Given the description of an element on the screen output the (x, y) to click on. 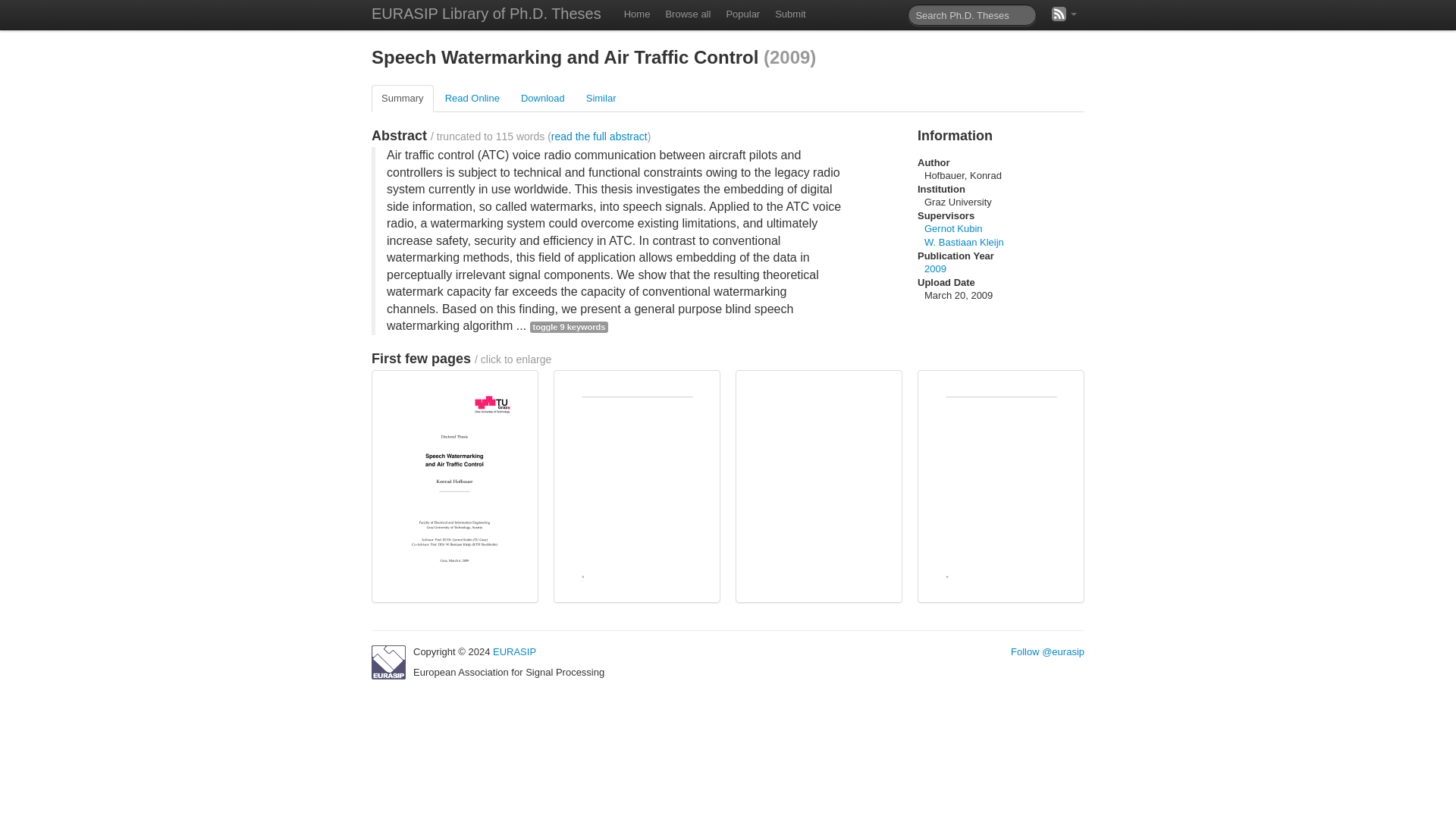
Browse theses published in 2009 (935, 268)
Home (636, 14)
Browse all (687, 14)
Download (543, 98)
Summary (402, 98)
Browse theses supervised by W. Bastiaan Kleijn (964, 242)
Browse theses supervised by Gernot Kubin (953, 228)
Popular (742, 14)
2009 (935, 268)
Submit (789, 14)
W. Bastiaan Kleijn (964, 242)
Feeds (1063, 14)
EURASIP Library of Ph.D. Theses (485, 15)
EURASIP (514, 651)
read the full abstract (599, 136)
